Given the description of an element on the screen output the (x, y) to click on. 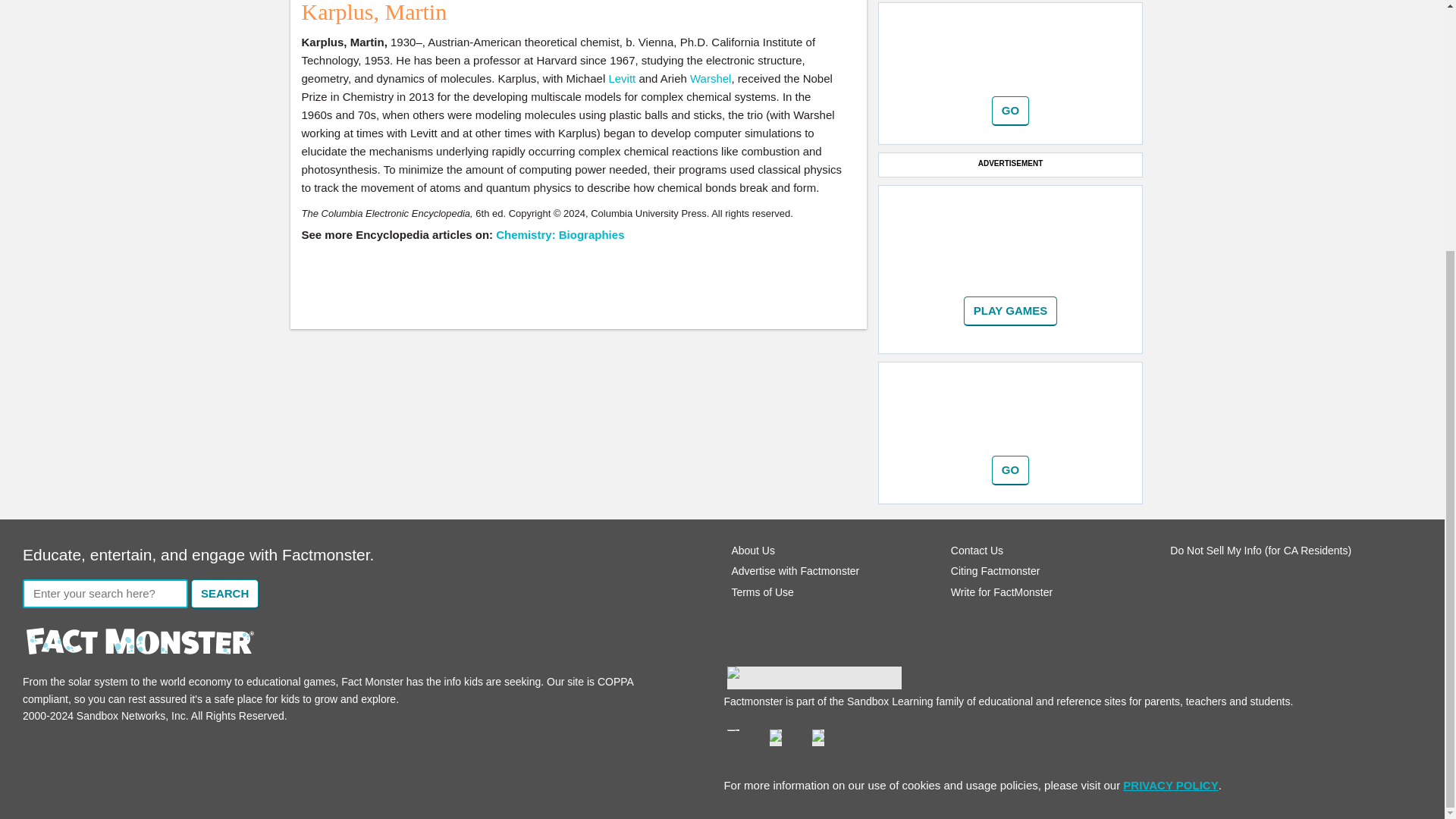
Go (1010, 470)
Go (1010, 310)
About Us (752, 550)
Search (224, 594)
Go (1010, 111)
Go (1010, 470)
Play Games (1010, 310)
Go (1010, 111)
